Given the description of an element on the screen output the (x, y) to click on. 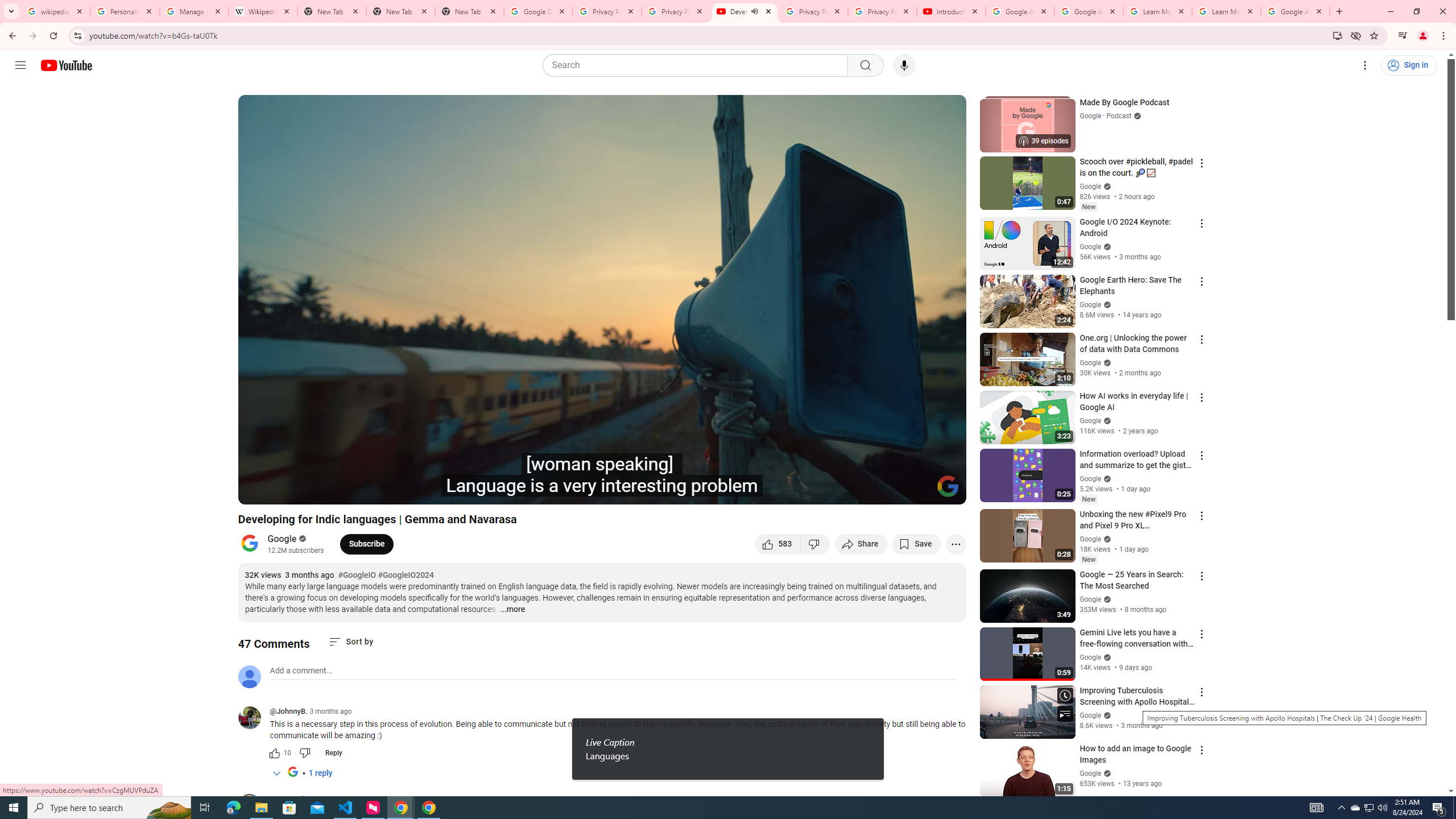
Share (861, 543)
Subscribe to Google. (366, 543)
Theater mode (t) (917, 490)
#GoogleIO (357, 575)
Wikipedia:Edit requests - Wikipedia (263, 11)
Personalization & Google Search results - Google Search Help (124, 11)
Google Drive: Sign-in (538, 11)
Channel watermark (947, 486)
